Given the description of an element on the screen output the (x, y) to click on. 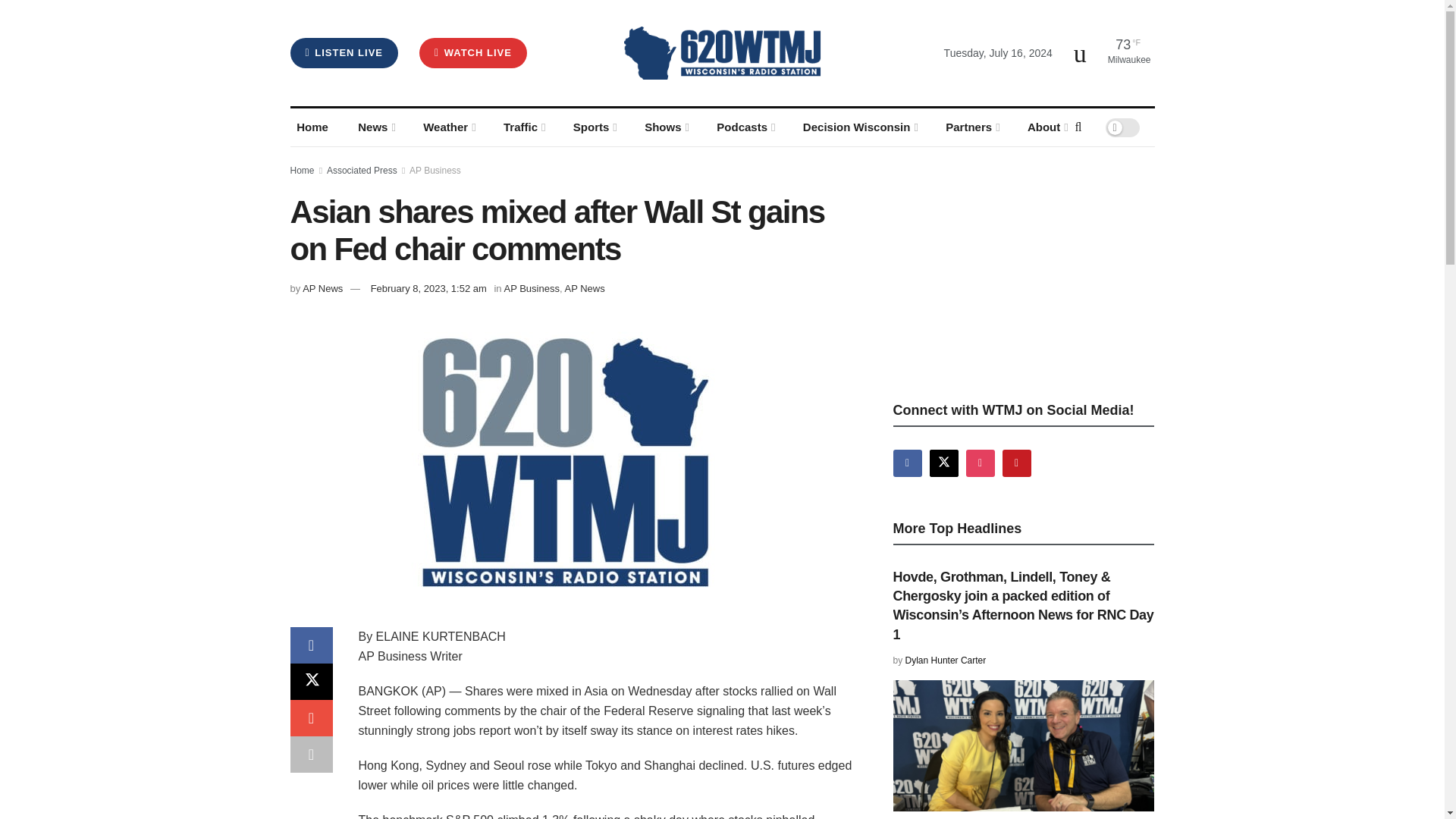
Traffic (523, 127)
News (376, 127)
Home (311, 127)
Weather (448, 127)
LISTEN LIVE (343, 52)
3rd party ad content (1007, 271)
WATCH LIVE (473, 52)
Sports (593, 127)
